Given the description of an element on the screen output the (x, y) to click on. 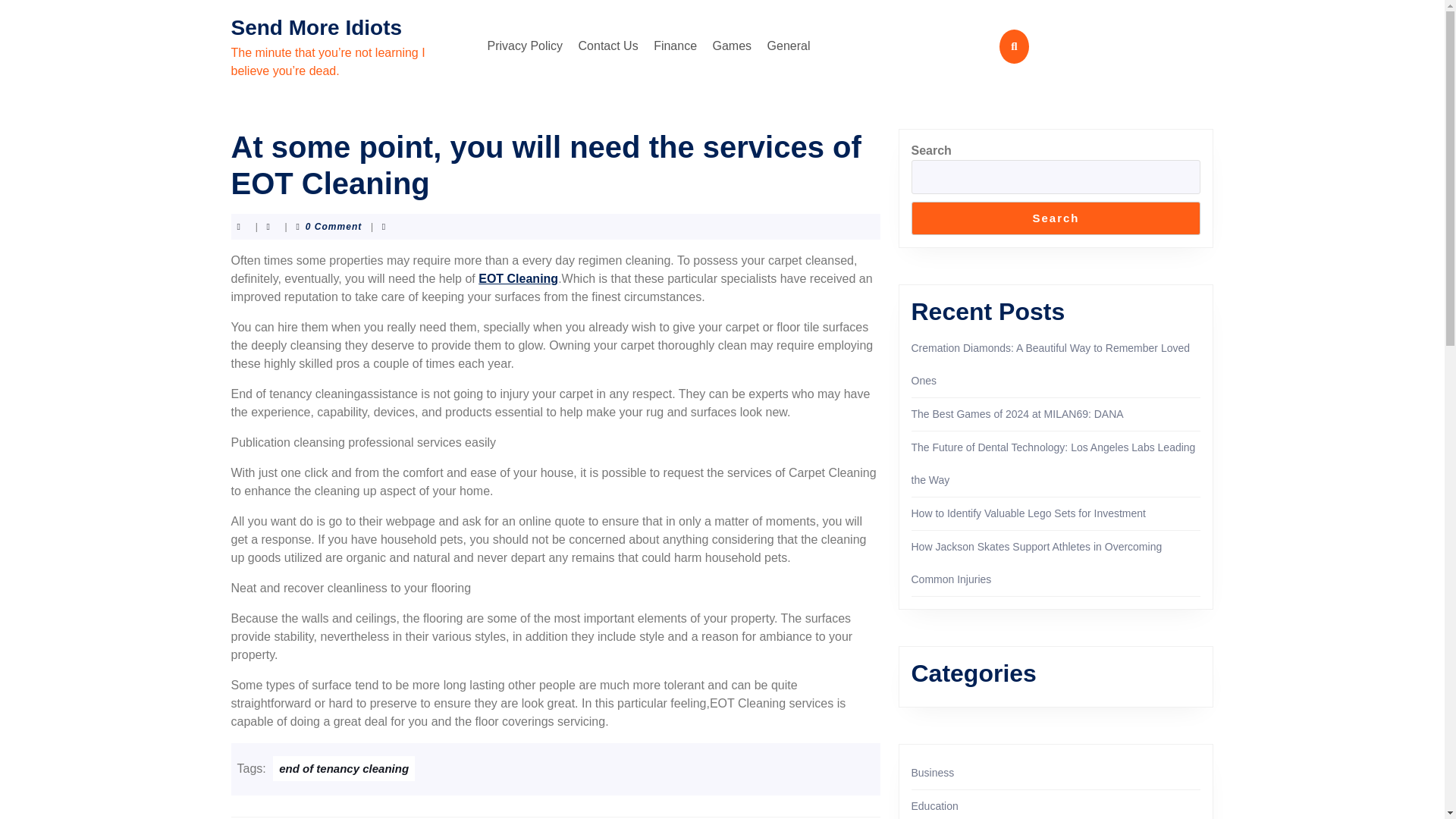
EOT Cleaning (343, 768)
Games (518, 278)
Send More Idiots (732, 46)
Business (315, 27)
Education (524, 46)
Search (933, 772)
General (934, 806)
The Best Games of 2024 at MILAN69: DANA (1056, 218)
How to Identify Valuable Lego Sets for Investment (788, 46)
